Given the description of an element on the screen output the (x, y) to click on. 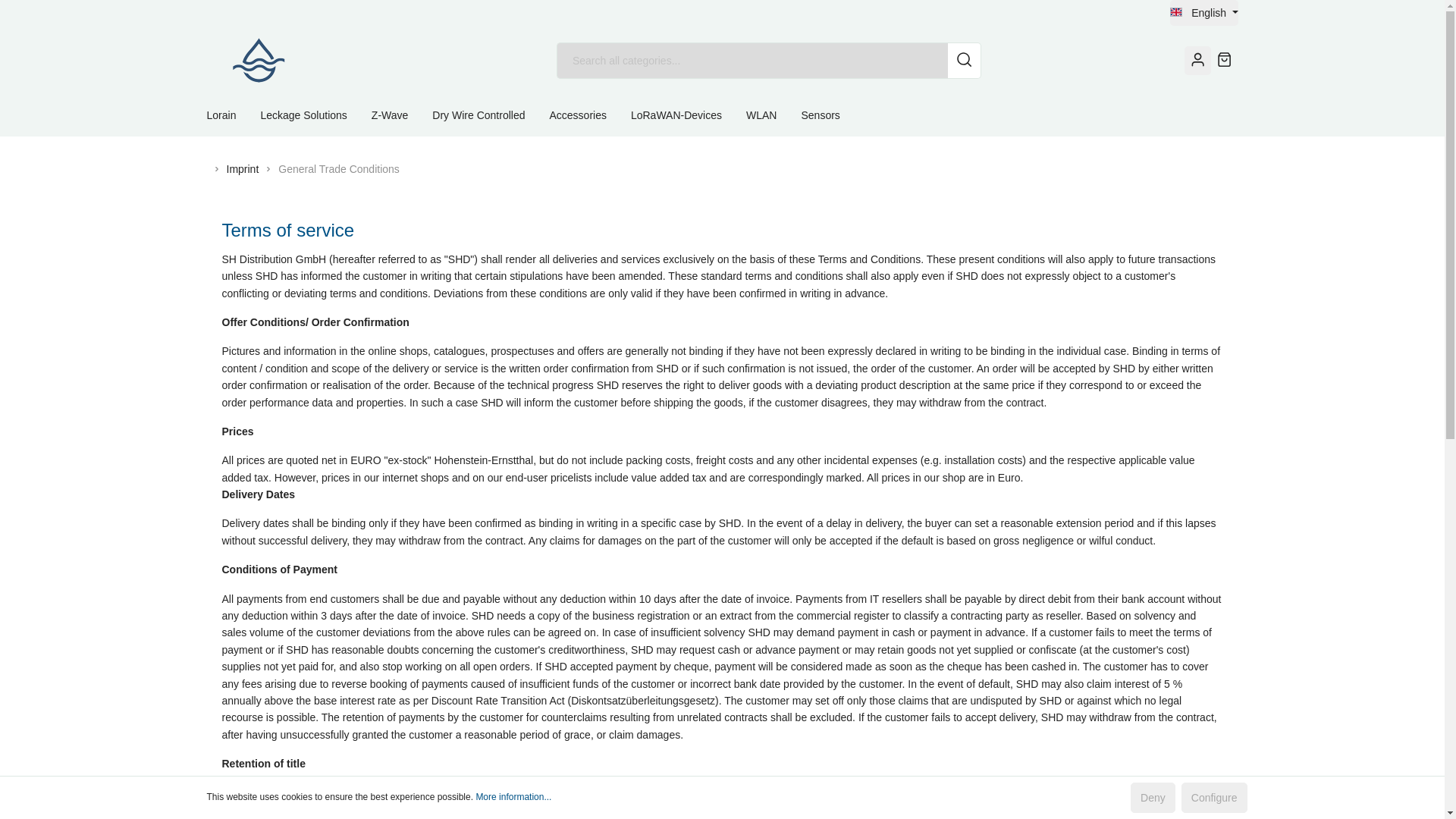
Shopping cart (1224, 59)
WLAN (772, 115)
Leckage Solutions (315, 115)
LoRaWAN-Devices (687, 115)
Lorain (233, 115)
English (1203, 12)
Accessories (589, 115)
Leckage Solutions (315, 115)
Z-Wave (401, 115)
General Trade Conditions (338, 168)
